Given the description of an element on the screen output the (x, y) to click on. 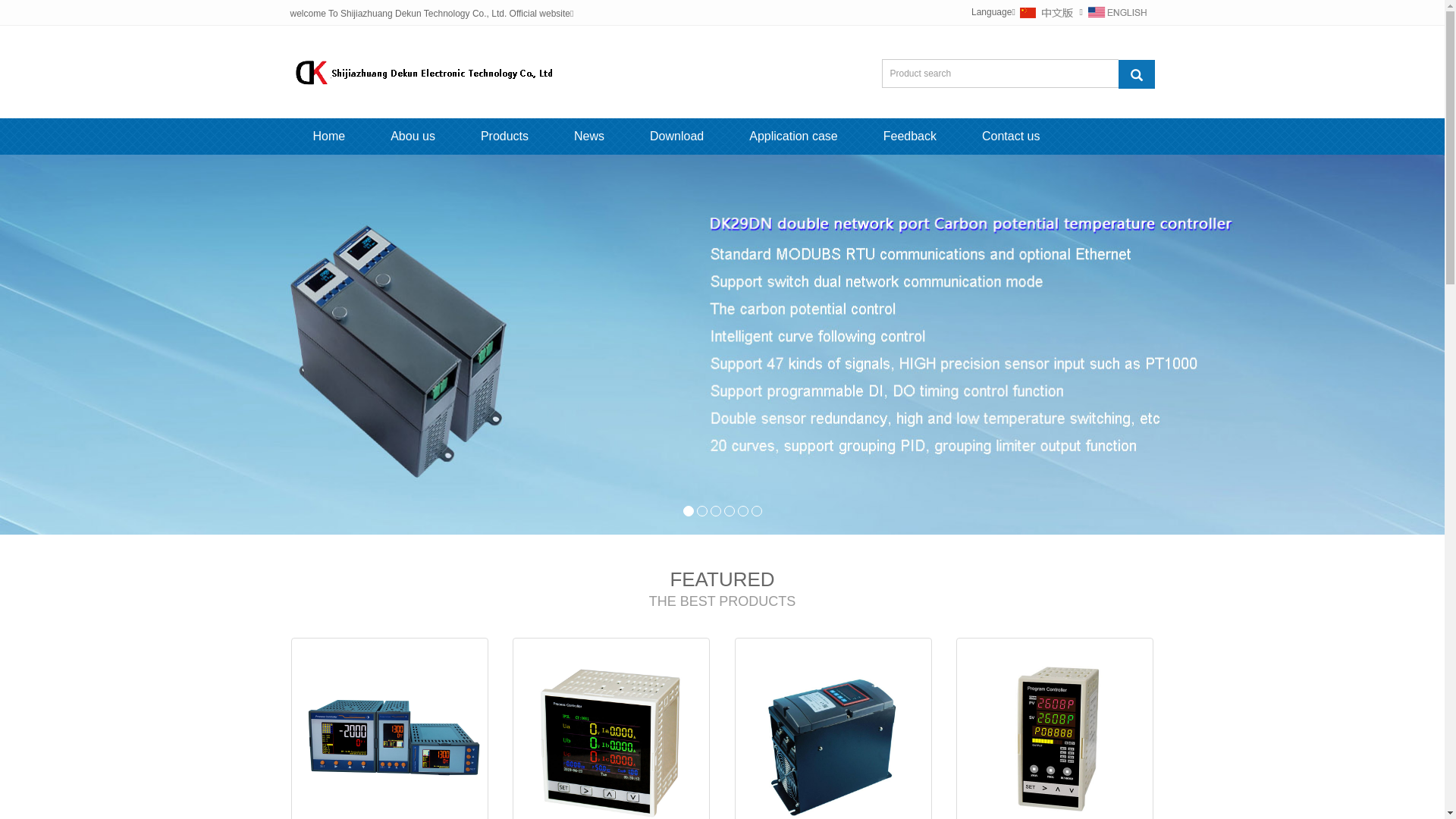
2 Element type: text (701, 510)
Abou us Element type: text (412, 136)
4 Element type: text (728, 510)
Feedback Element type: text (909, 136)
News Element type: text (589, 136)
English Element type: hover (1116, 11)
1 Element type: text (687, 510)
Download Element type: text (676, 136)
5 Element type: text (742, 510)
Home Element type: text (328, 136)
Application case Element type: text (793, 136)
3 Element type: text (714, 510)
Contact us Element type: text (1010, 136)
Products Element type: text (504, 136)
Product search Element type: hover (1135, 73)
6 Element type: text (755, 510)
